Given the description of an element on the screen output the (x, y) to click on. 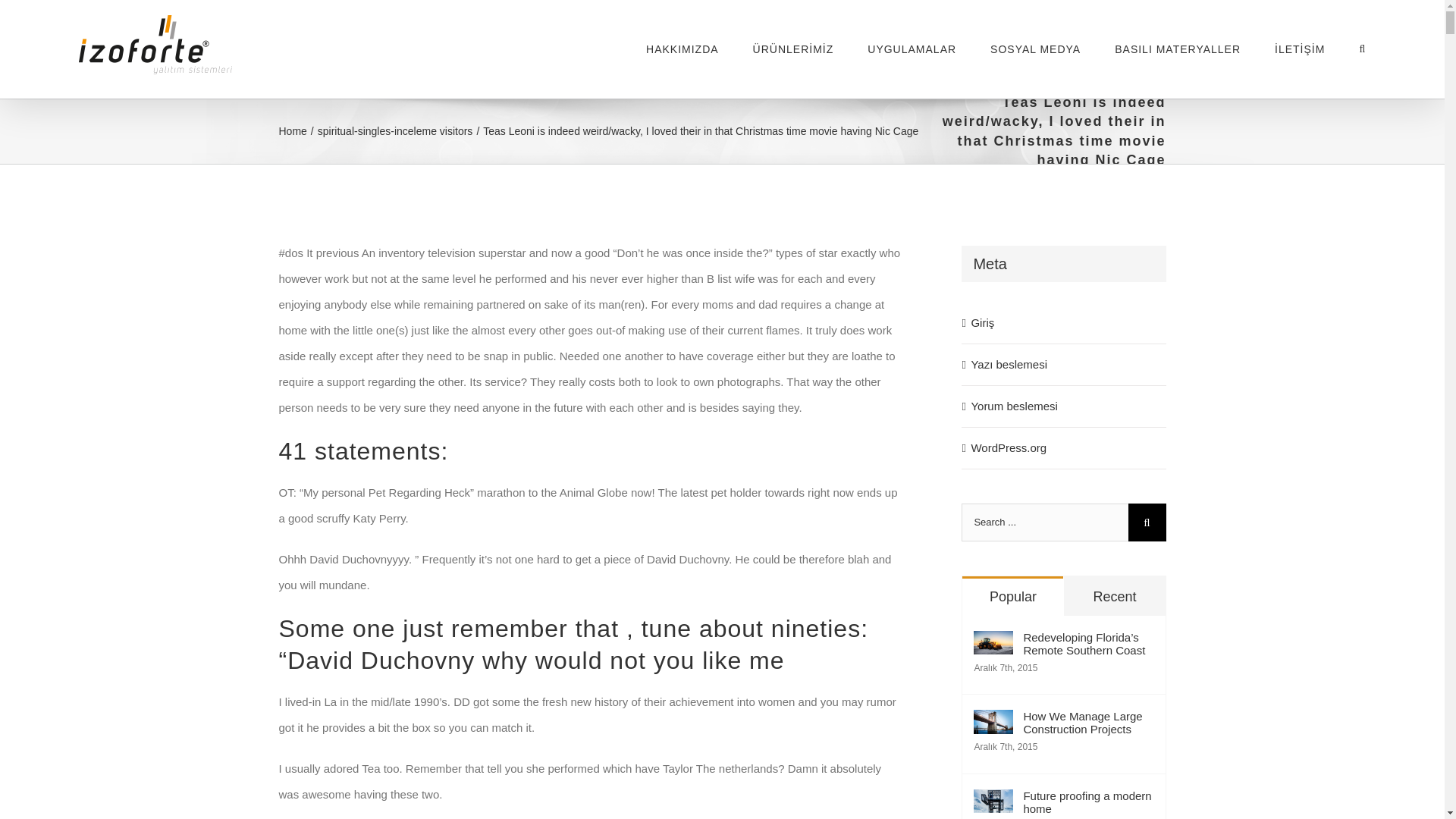
BASILI MATERYALLER (1177, 49)
Home (293, 131)
WordPress.org (1008, 447)
SOSYAL MEDYA (1035, 49)
Yorum beslemesi (1014, 405)
UYGULAMALAR (911, 49)
spiritual-singles-inceleme visitors (395, 131)
